Given the description of an element on the screen output the (x, y) to click on. 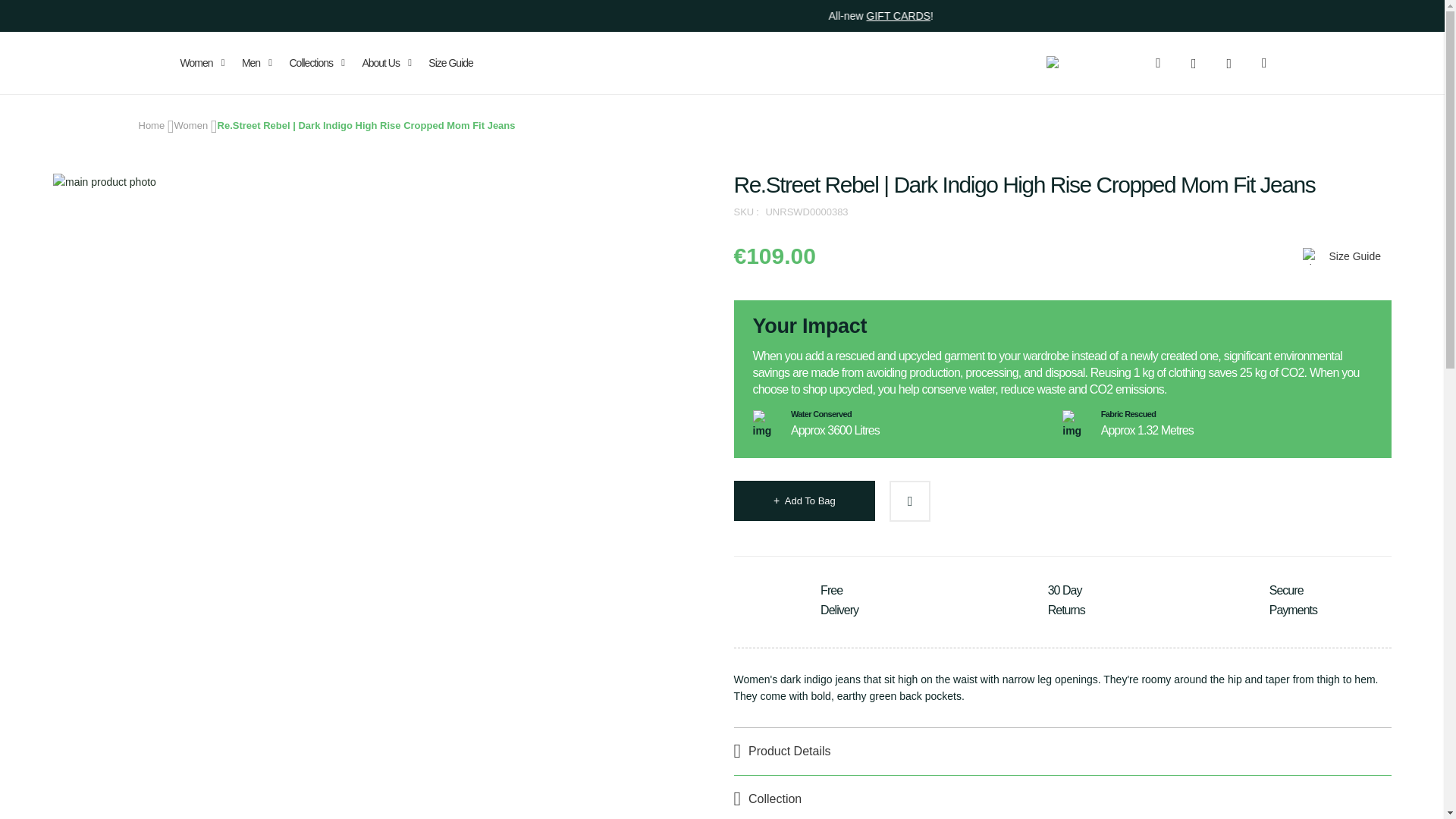
Women (204, 62)
Size Guide (450, 62)
Men (256, 62)
Women (191, 125)
Add to Wishlist (909, 499)
Size Guide (1340, 256)
Home (151, 125)
Go to Home Page (151, 125)
add to bag (804, 499)
About Us (386, 62)
